Given the description of an element on the screen output the (x, y) to click on. 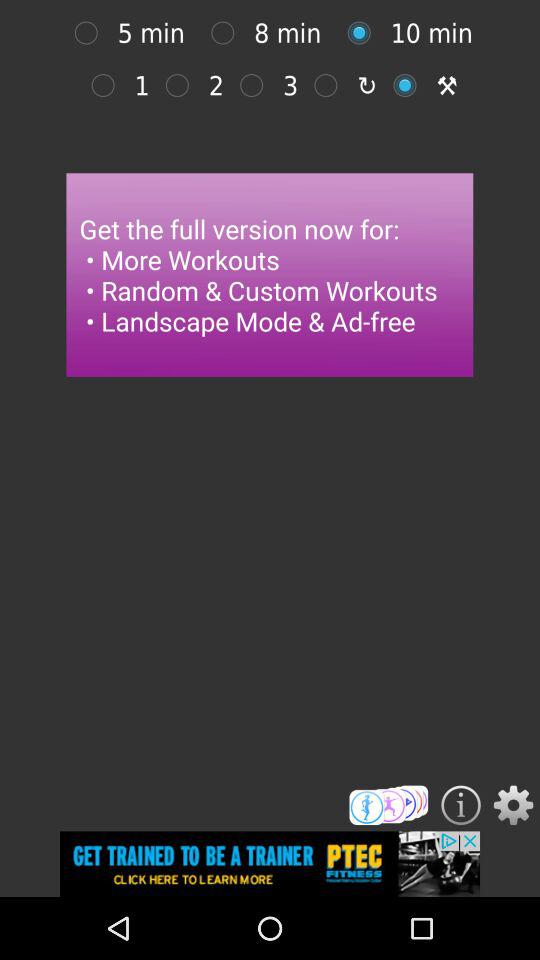
toggle option 3 (256, 85)
